Given the description of an element on the screen output the (x, y) to click on. 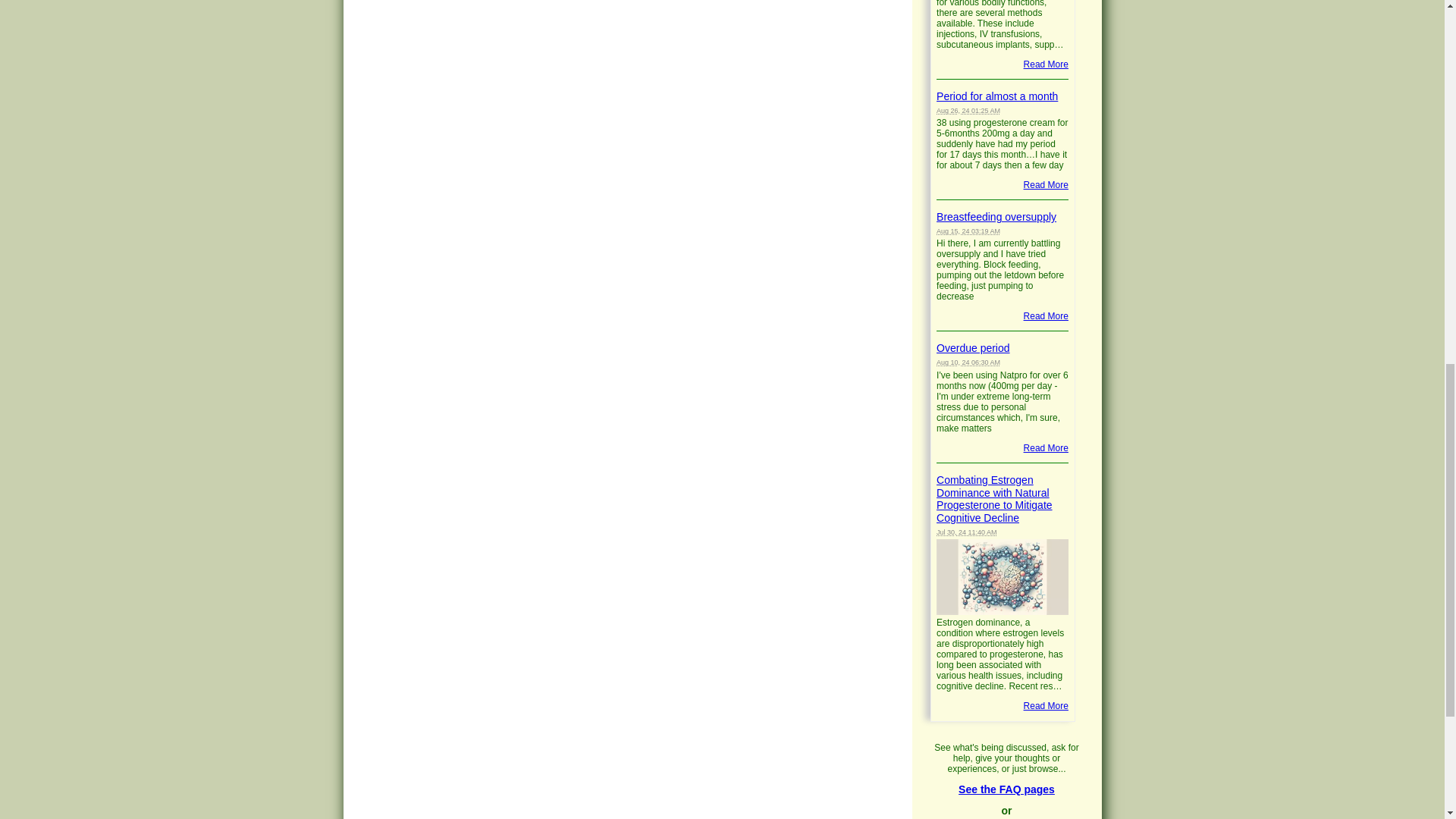
2024-07-30T11:40:51-0400 (966, 532)
2024-08-10T06:30:31-0400 (968, 362)
2024-08-26T01:25:22-0400 (968, 110)
2024-08-15T03:19:20-0400 (968, 231)
